Given the description of an element on the screen output the (x, y) to click on. 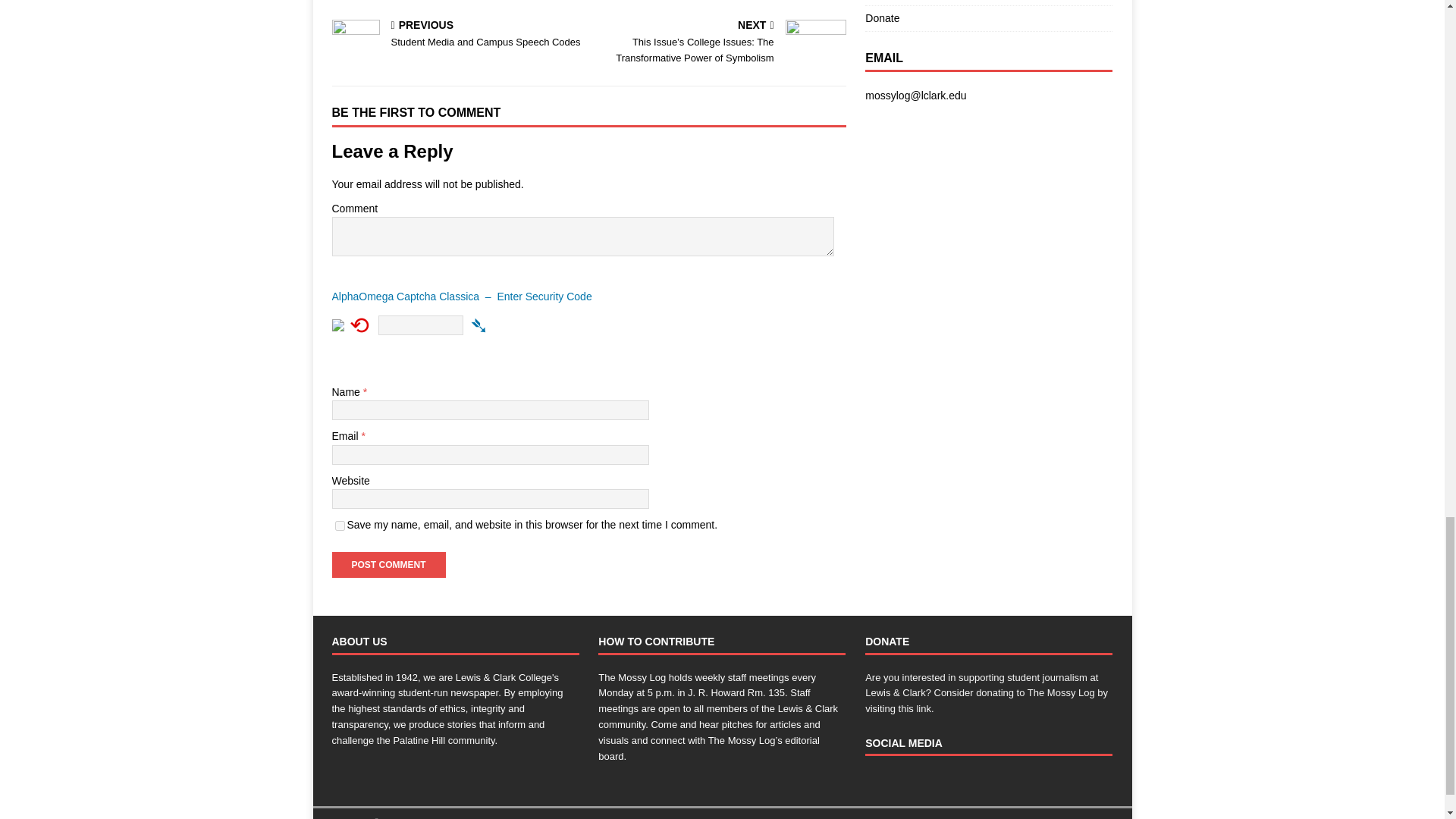
Post Comment (388, 565)
Post Comment (388, 565)
 Checkout the AlphaOmega Captcha Plugin at WordPress.org  (478, 324)
 Checkout the AlphaOmega Captcha Plugin at WordPress.org  (588, 299)
yes (457, 34)
 Reload AlphaOmega Captcha  (339, 525)
